Given the description of an element on the screen output the (x, y) to click on. 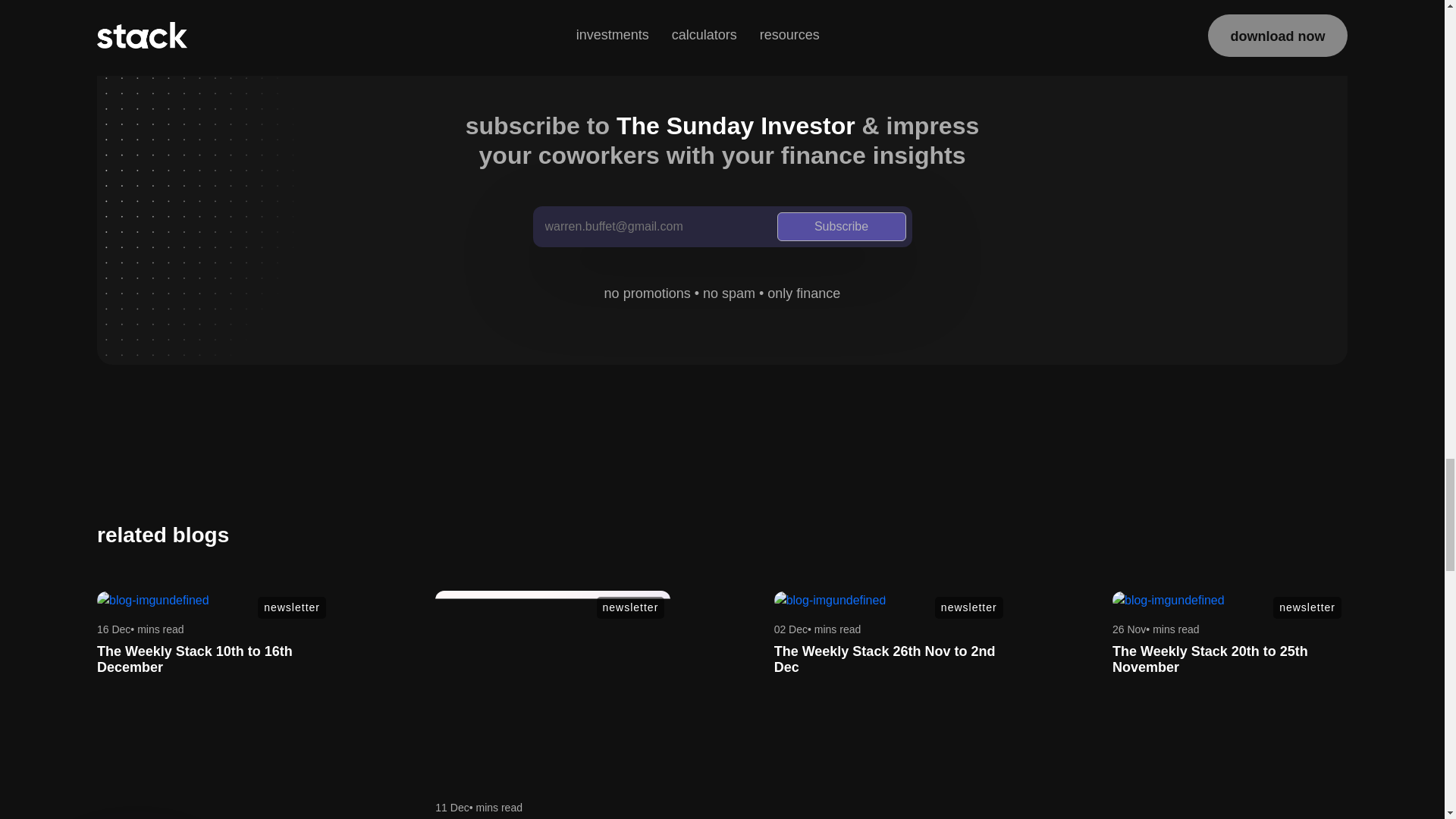
Subscribe (840, 226)
